Given the description of an element on the screen output the (x, y) to click on. 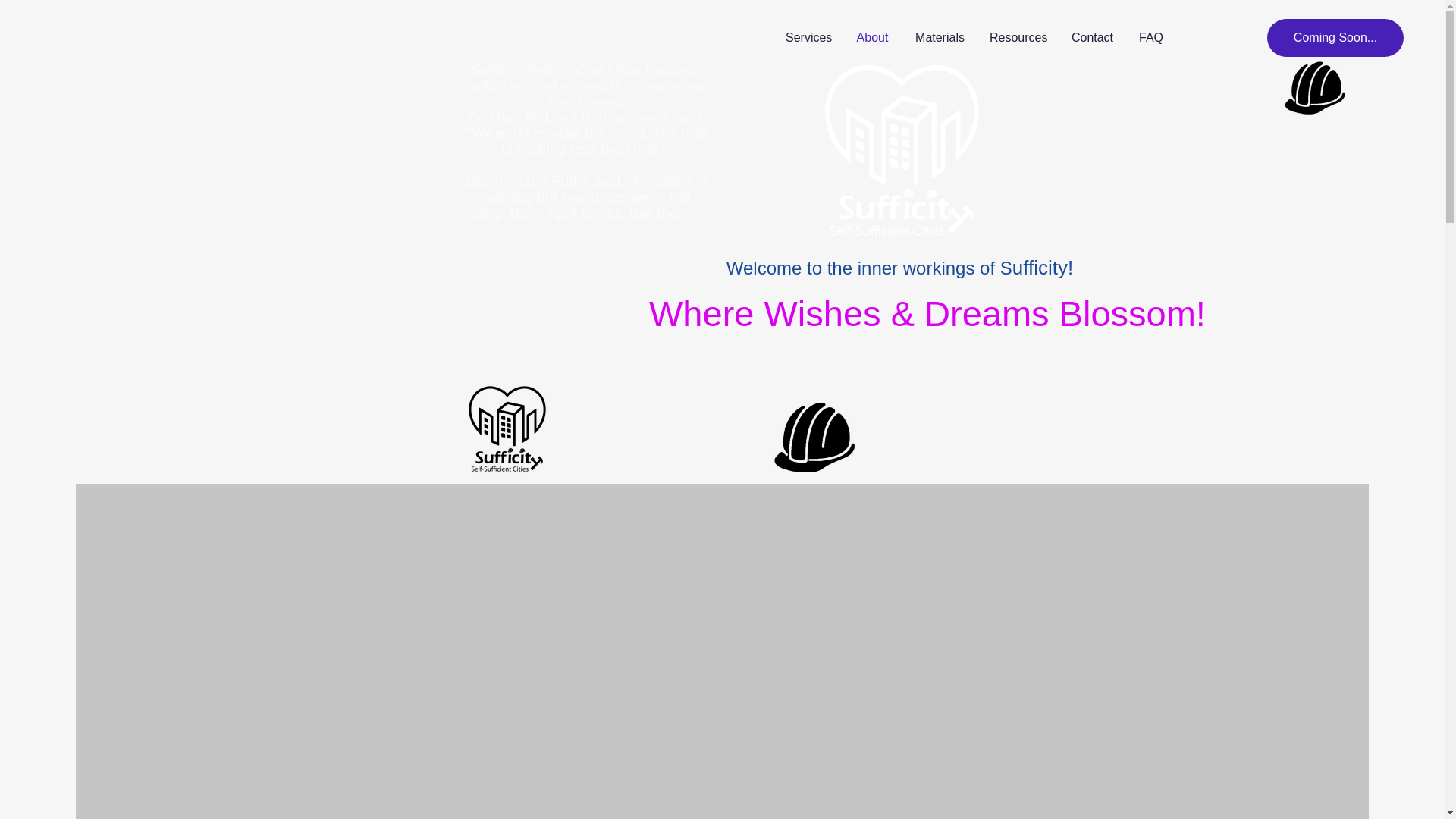
Services (808, 37)
Contact (1091, 37)
Sufficity - white 3000x3000.png (901, 151)
About (872, 37)
Hard Hat Black.png (1314, 87)
Coming Soon... (1334, 37)
Materials (938, 37)
FAQ (1149, 37)
Sufficity - black 3000x2000.png (507, 430)
Resources (1017, 37)
Hard Hat Black.png (814, 437)
